Given the description of an element on the screen output the (x, y) to click on. 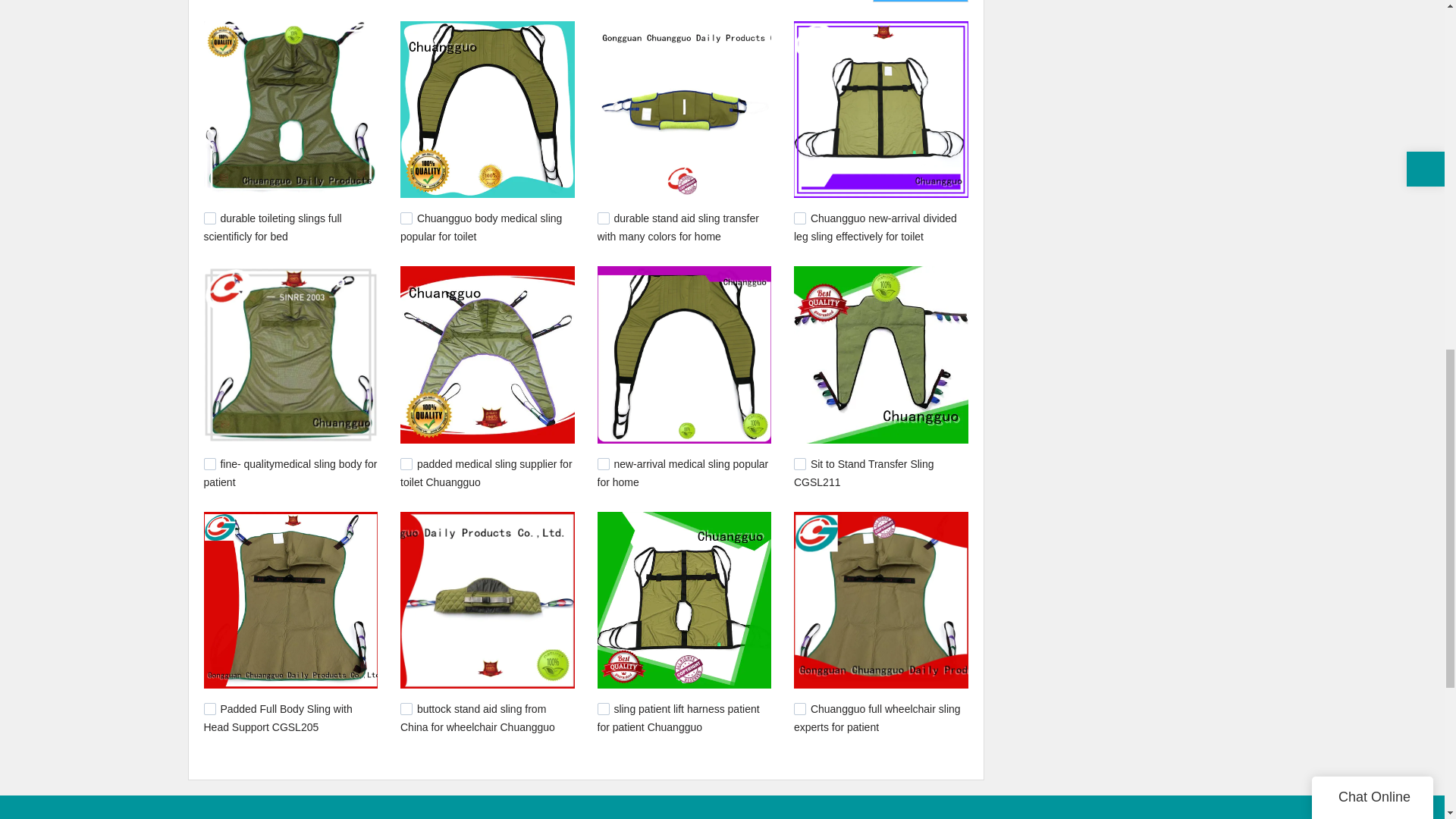
durable toileting slings full scientificly for bed (271, 227)
new-arrival medical sling popular for home (682, 472)
Padded Full Body Sling with Head Support CGSL205 (277, 717)
1961 (603, 708)
sling patient lift harness patient for patient Chuangguo (678, 717)
2699 (209, 463)
2727 (799, 218)
Chuangguo body medical sling popular for toilet (481, 227)
Chuangguo full wheelchair sling experts for patient (876, 717)
2679 (603, 463)
durable stand aid sling transfer with many colors for home (677, 227)
2756 (603, 218)
buttock stand aid sling from China for wheelchair Chuangguo (477, 717)
2599 (799, 463)
Sit to Stand Transfer Sling CGSL211 (863, 472)
